Given the description of an element on the screen output the (x, y) to click on. 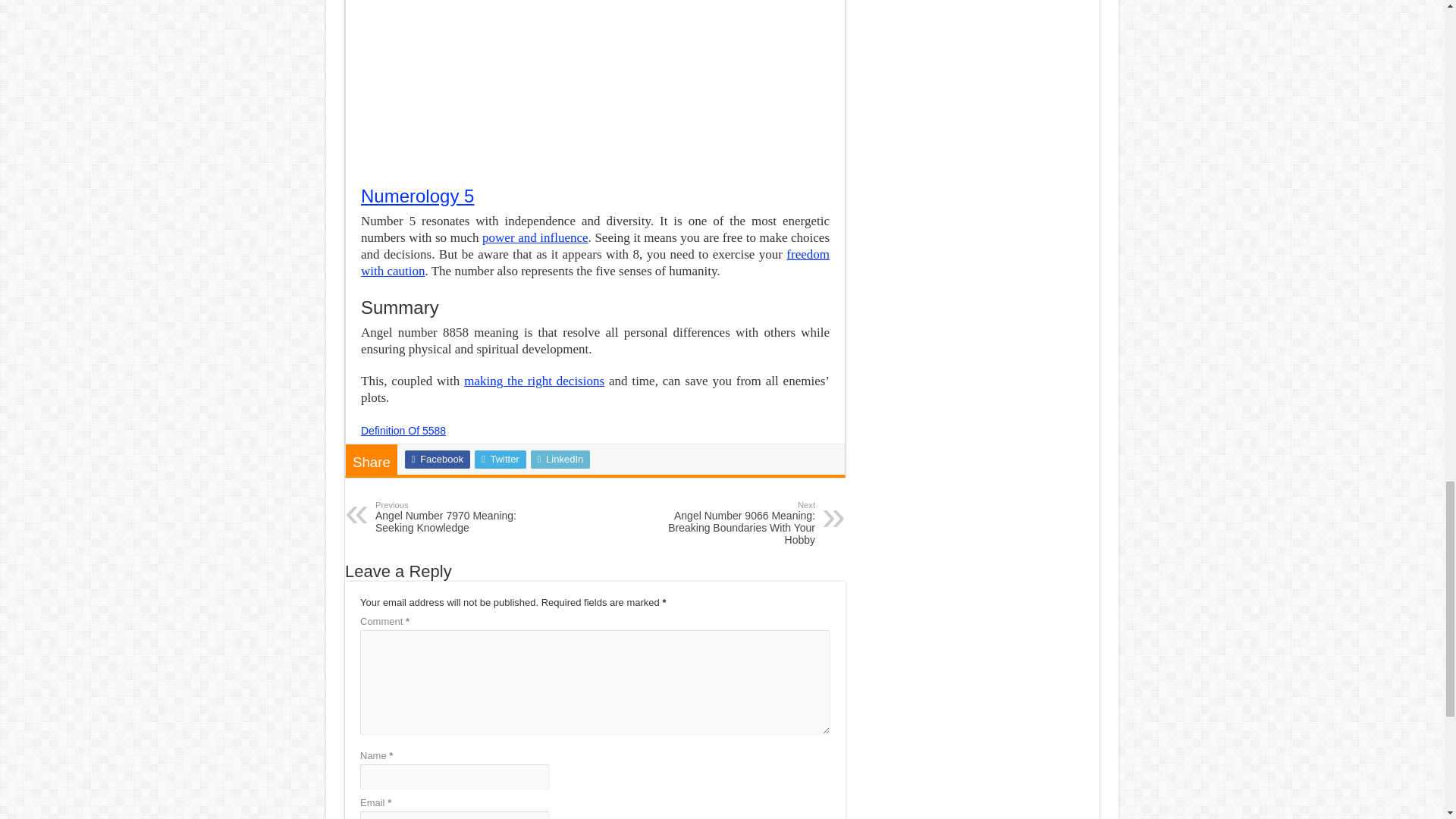
Definition Of 5588 (403, 430)
Definition Of 5588 (403, 430)
LinkedIn (561, 459)
Facebook (437, 459)
Numerology 5 (417, 195)
power and influence (534, 237)
Twitter (499, 459)
making the right decisions (453, 516)
freedom with caution (534, 380)
